Given the description of an element on the screen output the (x, y) to click on. 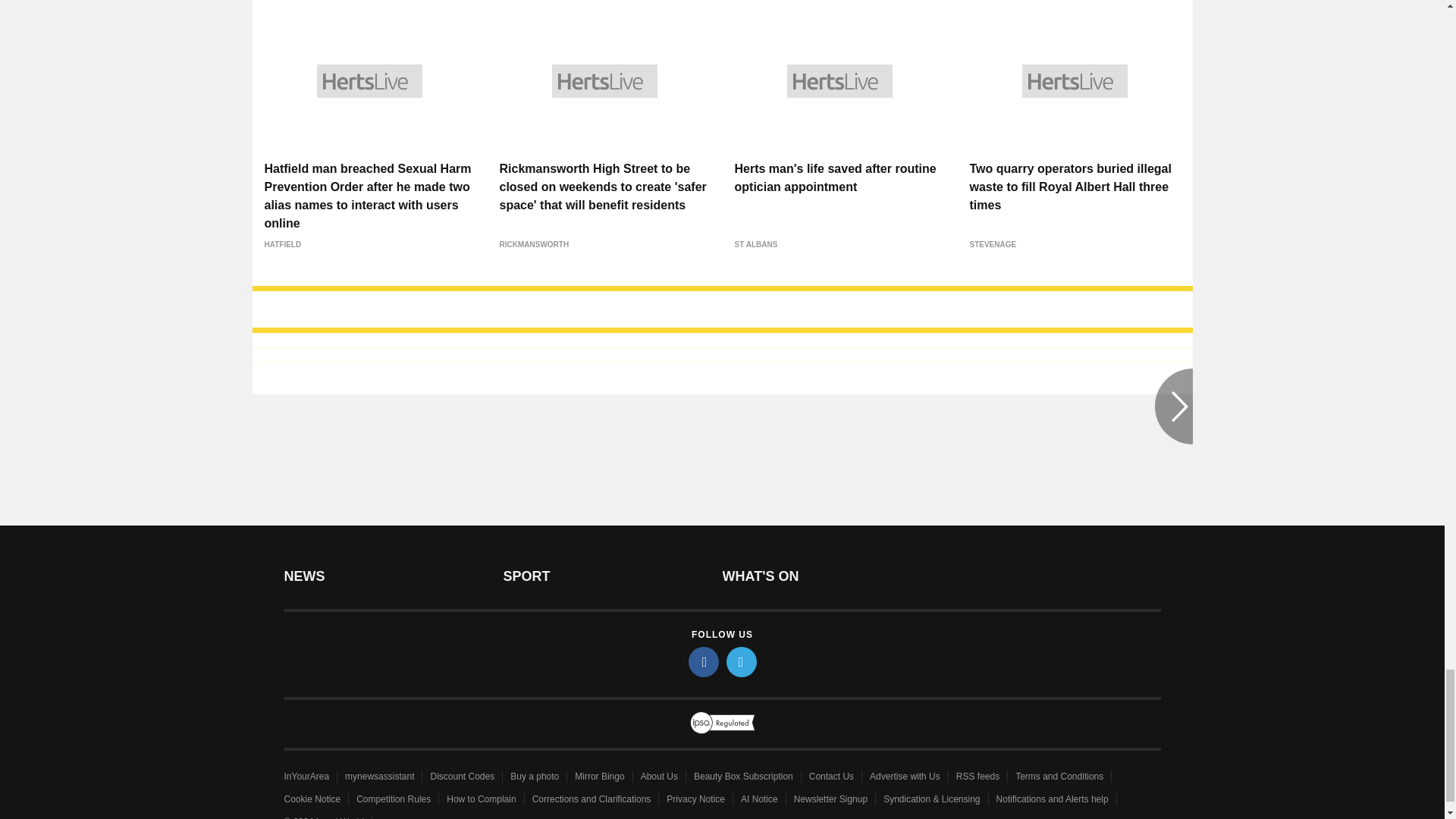
facebook (703, 662)
twitter (741, 662)
